Given the description of an element on the screen output the (x, y) to click on. 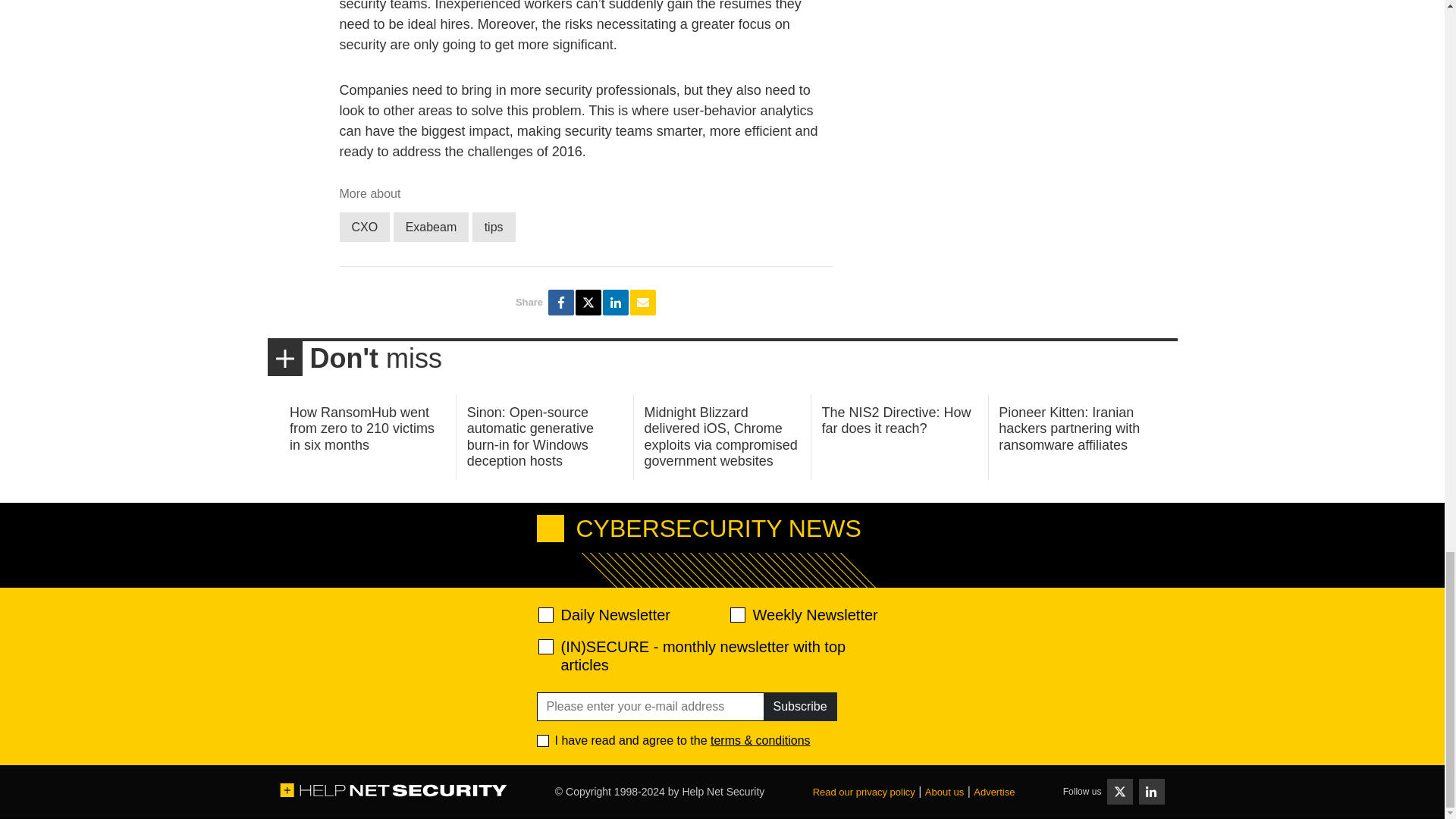
1 (542, 740)
tips (493, 226)
Exabeam (430, 226)
28abe5d9ef (545, 646)
How RansomHub went from zero to 210 victims in six months (361, 428)
